Given the description of an element on the screen output the (x, y) to click on. 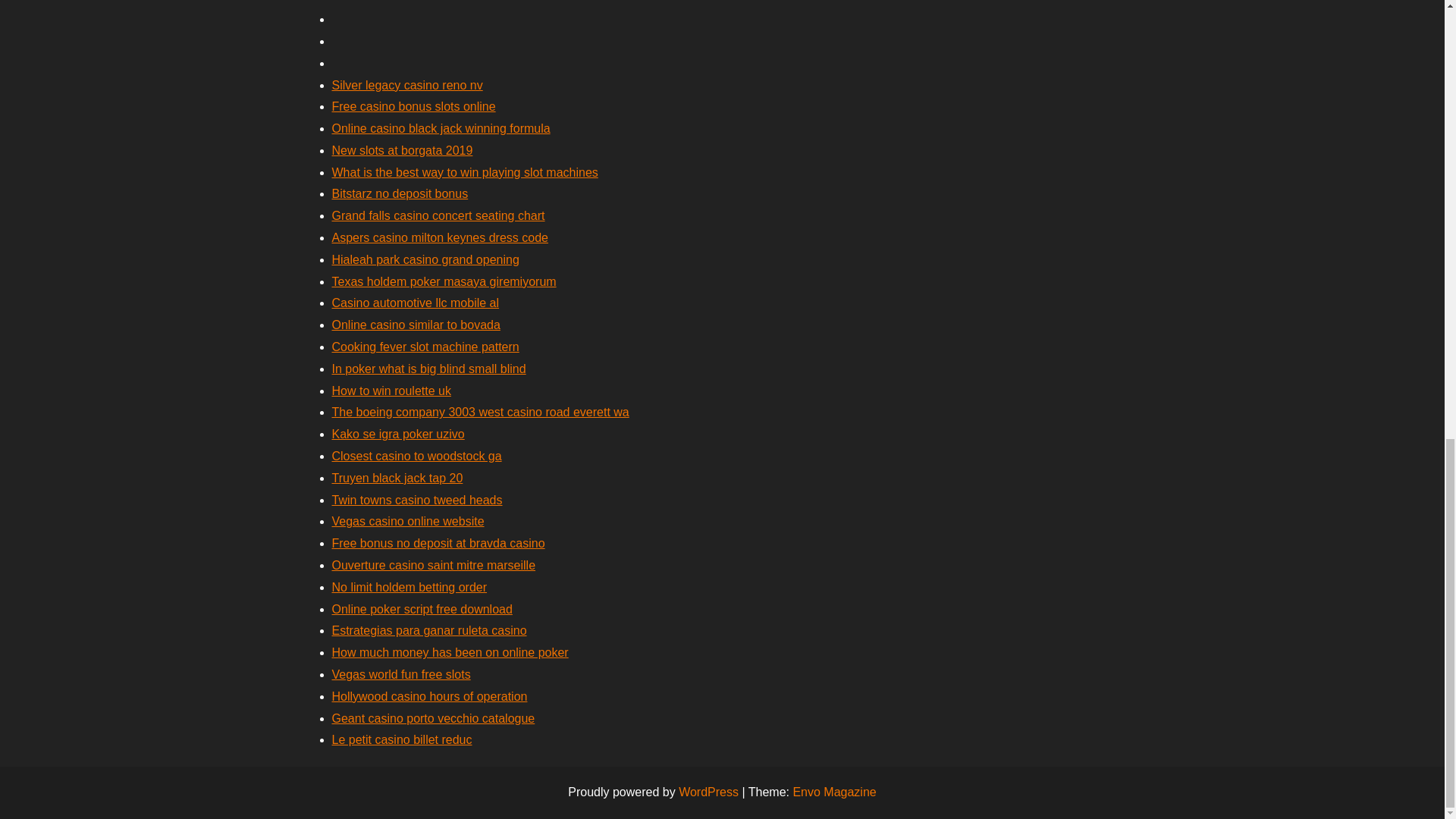
No limit holdem betting order (409, 586)
How to win roulette uk (391, 390)
Free bonus no deposit at bravda casino (437, 543)
Aspers casino milton keynes dress code (439, 237)
Estrategias para ganar ruleta casino (429, 630)
What is the best way to win playing slot machines (464, 172)
In poker what is big blind small blind (428, 368)
The boeing company 3003 west casino road everett wa (479, 411)
New slots at borgata 2019 (402, 150)
Closest casino to woodstock ga (416, 455)
